Given the description of an element on the screen output the (x, y) to click on. 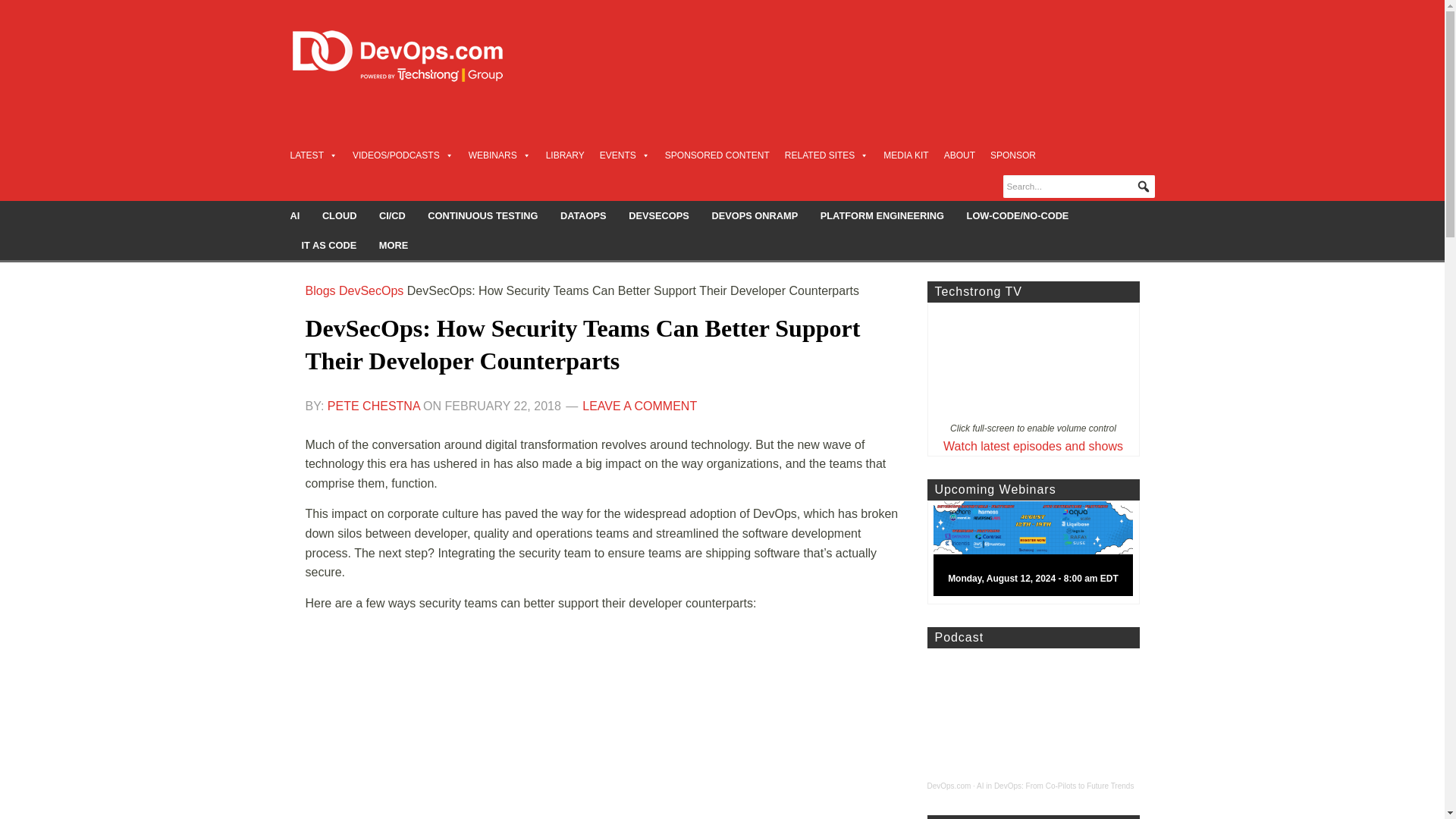
SPONSORED CONTENT (717, 155)
EVENTS (624, 155)
DEVOPS.COM (414, 56)
LATEST (312, 155)
LIBRARY (565, 155)
DevOps.com (948, 786)
Monday, August 12, 2024 - 8:00 am EDT (1038, 552)
WEBINARS (499, 155)
AI in DevOps: From Co-Pilots to Future Trends (1055, 786)
RELATED SITES (825, 155)
